Given the description of an element on the screen output the (x, y) to click on. 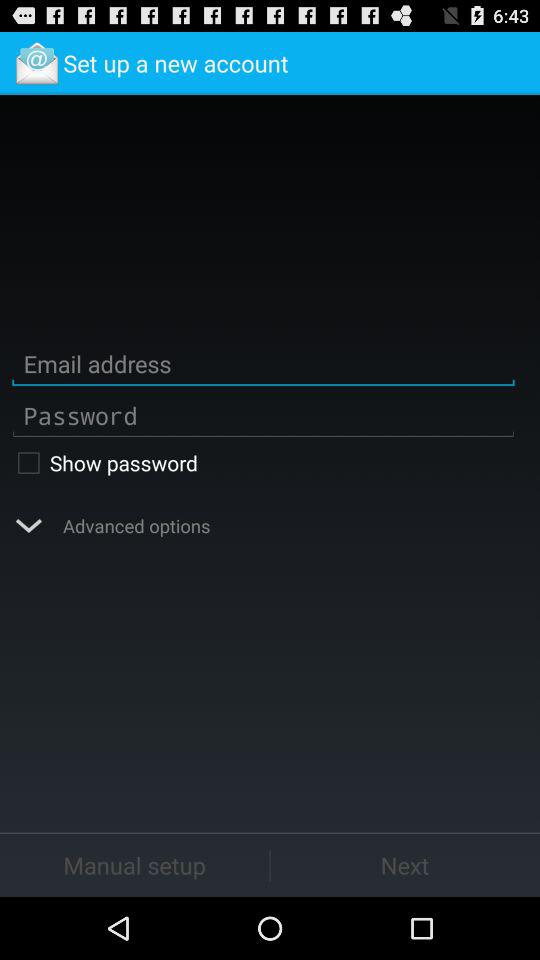
open the icon to the left of next item (134, 864)
